Given the description of an element on the screen output the (x, y) to click on. 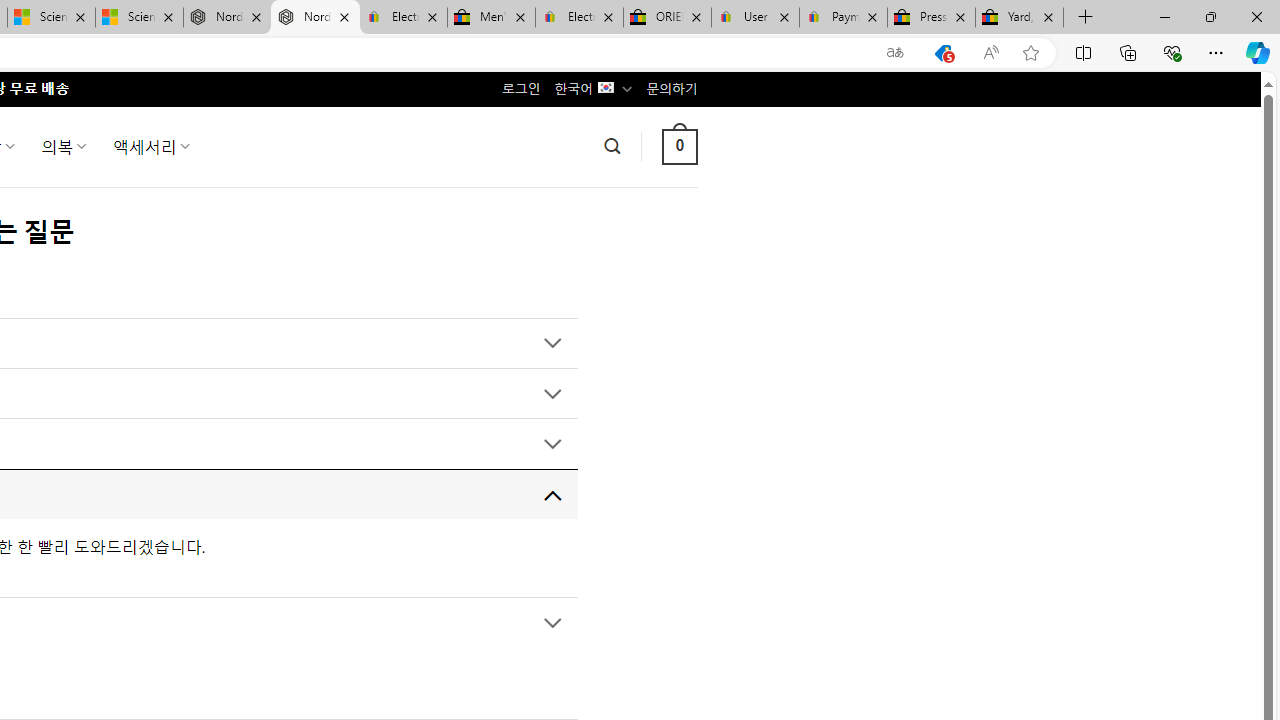
 0  (679, 146)
